Given the description of an element on the screen output the (x, y) to click on. 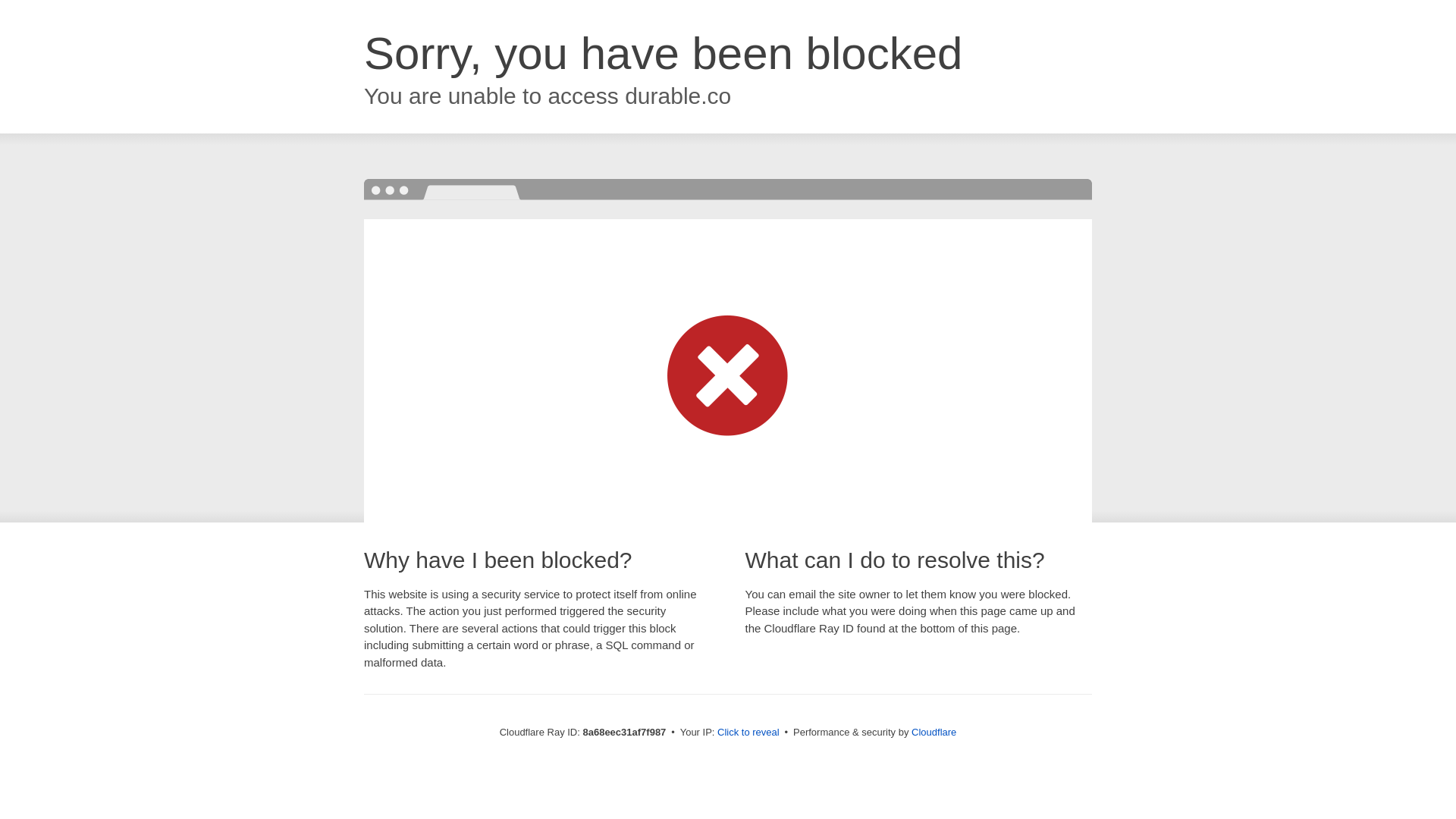
Click to reveal (747, 732)
Cloudflare (933, 731)
